Given the description of an element on the screen output the (x, y) to click on. 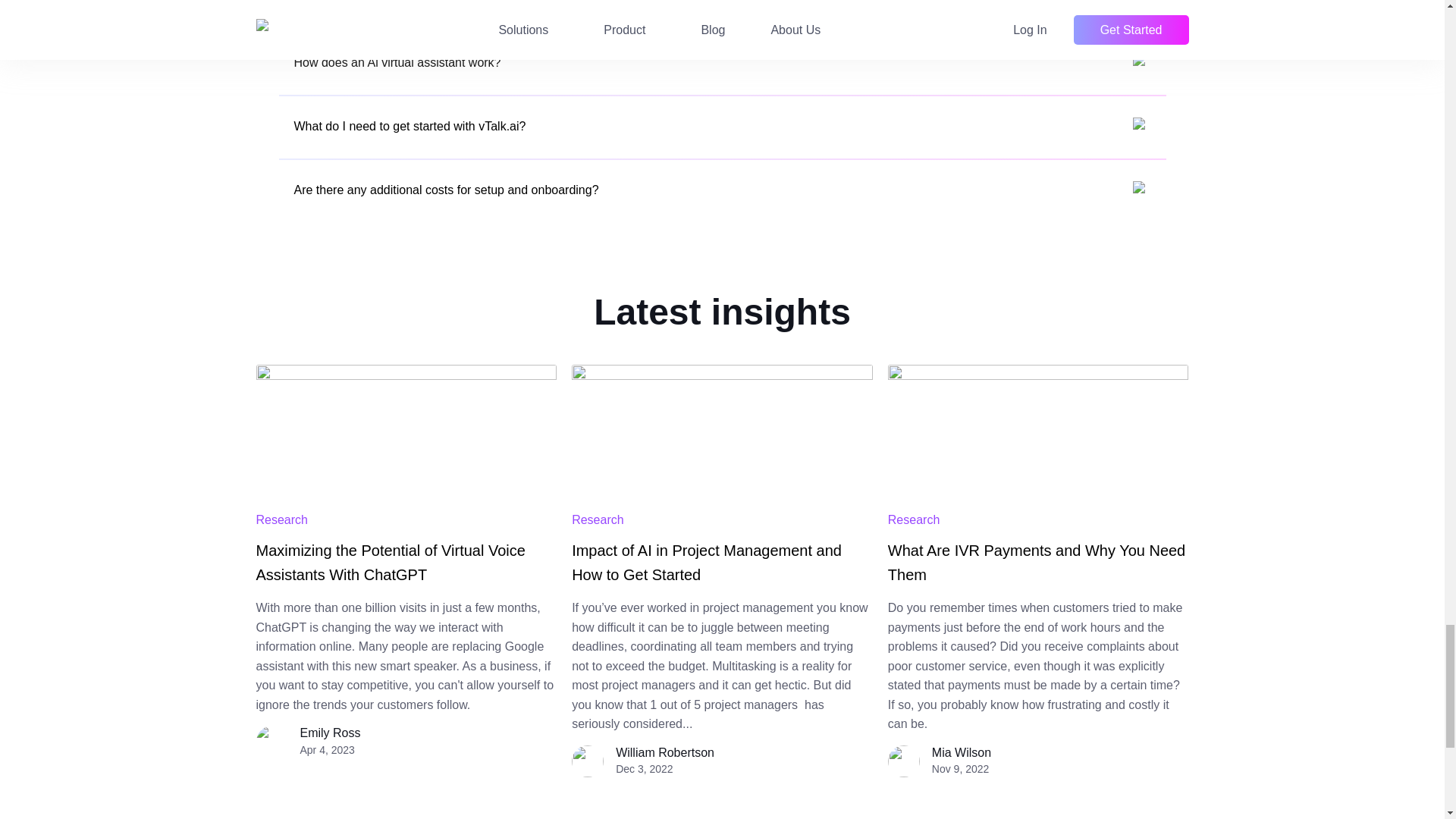
How does an Ai virtual assistant work? (722, 63)
Are there any additional costs for setup and onboarding? (722, 189)
What do I need to get started with vTalk.ai? (722, 126)
What Are IVR Payments and Why You Need Them (1036, 562)
William Robertson (664, 752)
Mia Wilson (961, 752)
Emily Ross (330, 732)
Impact of AI in Project Management and How to Get Started (706, 562)
